Given the description of an element on the screen output the (x, y) to click on. 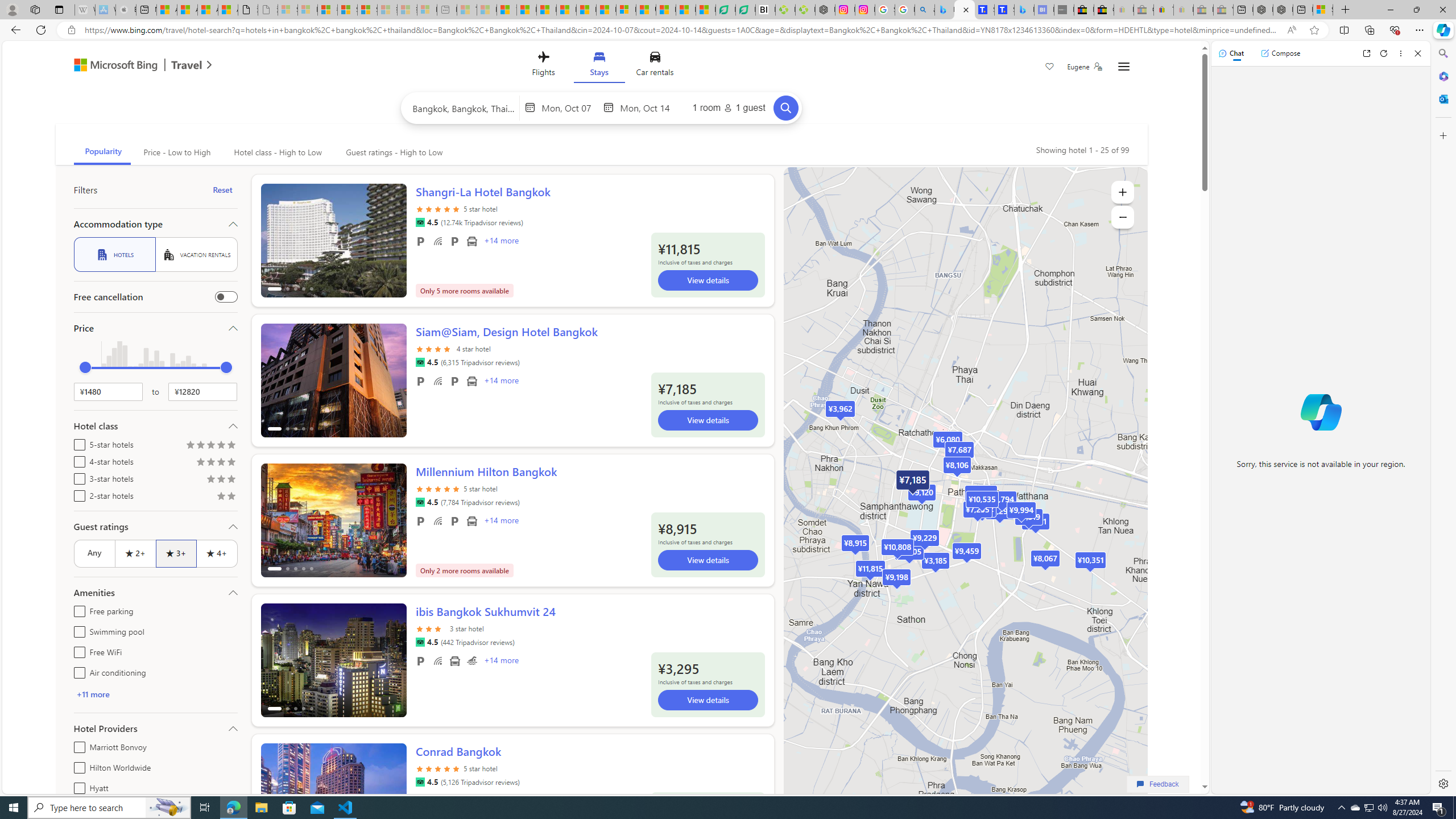
Swimming pool (76, 629)
Swimming pool (471, 660)
Shangri-La Bangkok, Hotel reviews and Room rates (1004, 9)
Compose (1280, 52)
Class: trvl-hub-header (601, 65)
Car rentals (654, 65)
